Given the description of an element on the screen output the (x, y) to click on. 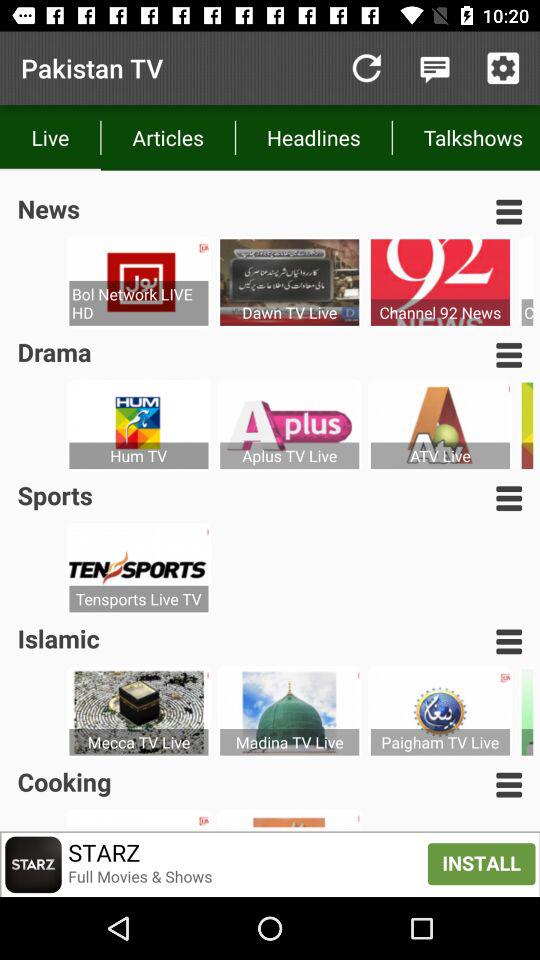
more button of the same catergory (509, 784)
